Given the description of an element on the screen output the (x, y) to click on. 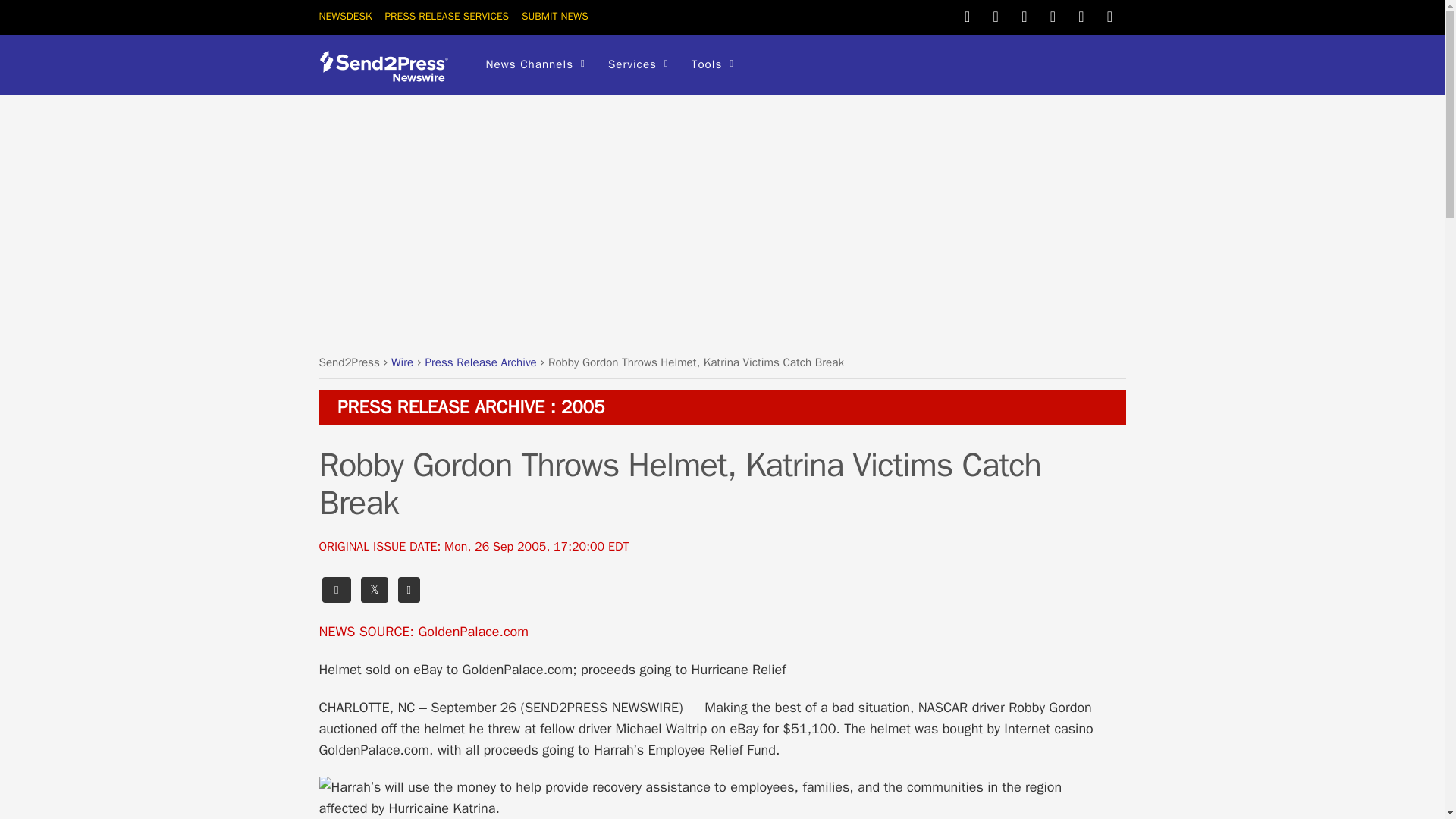
Send2Press Newswire (388, 66)
Facebook (995, 15)
Submit Press Release (554, 15)
Instagram (1081, 15)
Send2Press Newswire - Press Release Services (388, 75)
SUBMIT NEWS (554, 15)
Pinterest (1024, 15)
News Channels (535, 65)
LinkedIn (1052, 15)
NEWSDESK (344, 15)
